Given the description of an element on the screen output the (x, y) to click on. 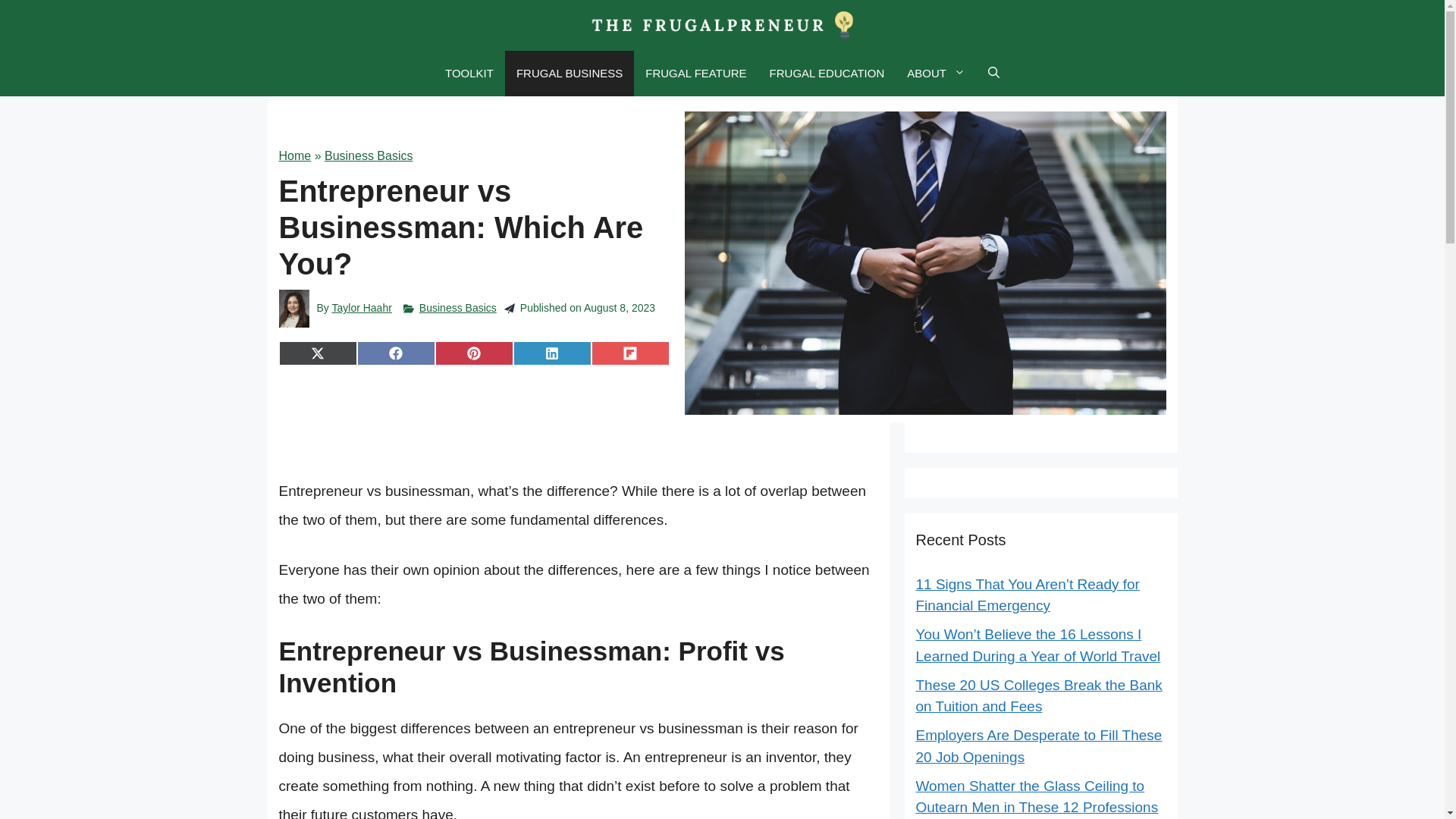
Share on LinkedIn (552, 353)
Share on Facebook (395, 353)
ABOUT (935, 73)
Business Basics (457, 307)
Share on Flip it (630, 353)
Share on Pinterest (474, 353)
Business Basics (368, 155)
Taylor Haahr (361, 307)
FRUGAL FEATURE (695, 73)
TOOLKIT (469, 73)
FRUGAL EDUCATION (827, 73)
FRUGAL BUSINESS (569, 73)
Home (295, 155)
